Given the description of an element on the screen output the (x, y) to click on. 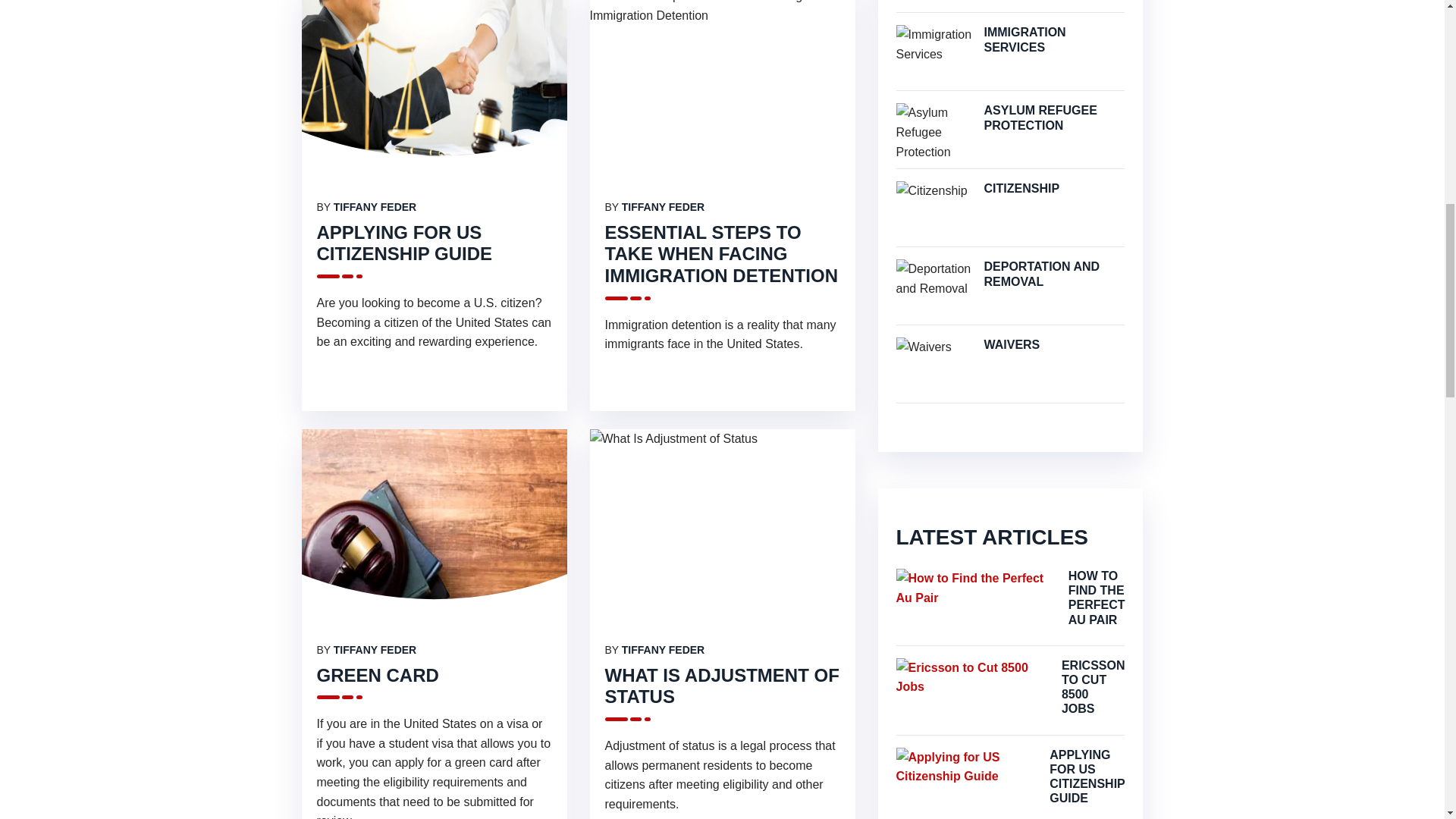
WHAT IS ADJUSTMENT OF STATUS (722, 685)
CITIZENSHIP (1054, 187)
IMMIGRATION SERVICES (1054, 39)
APPLYING FOR US CITIZENSHIP GUIDE (405, 242)
GREEN CARD (378, 674)
ESSENTIAL STEPS TO TAKE WHEN FACING IMMIGRATION DETENTION (721, 253)
ASYLUM REFUGEE PROTECTION (1054, 117)
DEPORTATION AND REMOVAL (1054, 273)
WAIVERS (1054, 344)
